Given the description of an element on the screen output the (x, y) to click on. 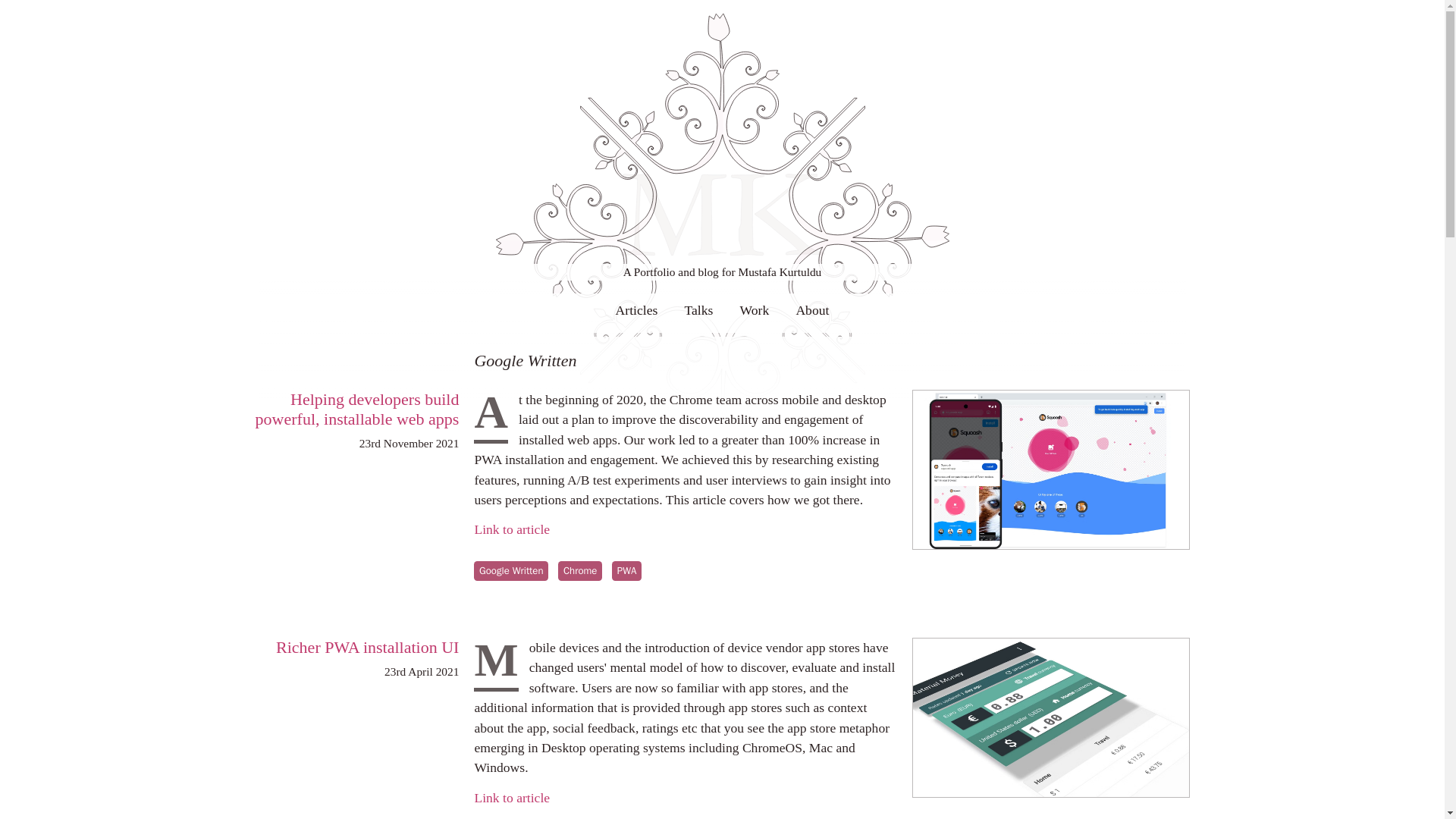
Google Written (511, 570)
Chrome (579, 570)
Link to article (512, 529)
Articles (636, 312)
Link to article (512, 797)
PWA (626, 570)
Helping developers build powerful, installable web apps (358, 408)
Richer PWA installation UI (367, 647)
